Given the description of an element on the screen output the (x, y) to click on. 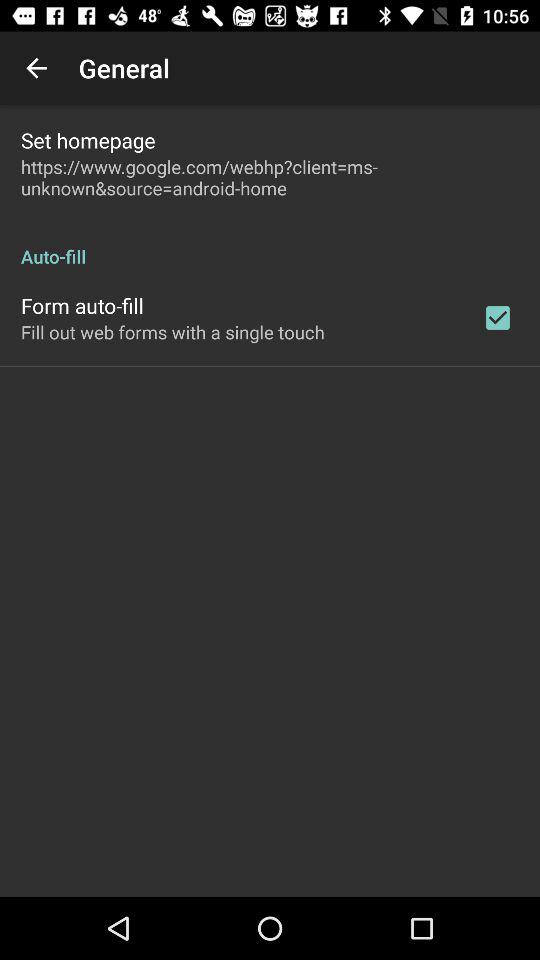
tap item next to fill out web icon (497, 317)
